Given the description of an element on the screen output the (x, y) to click on. 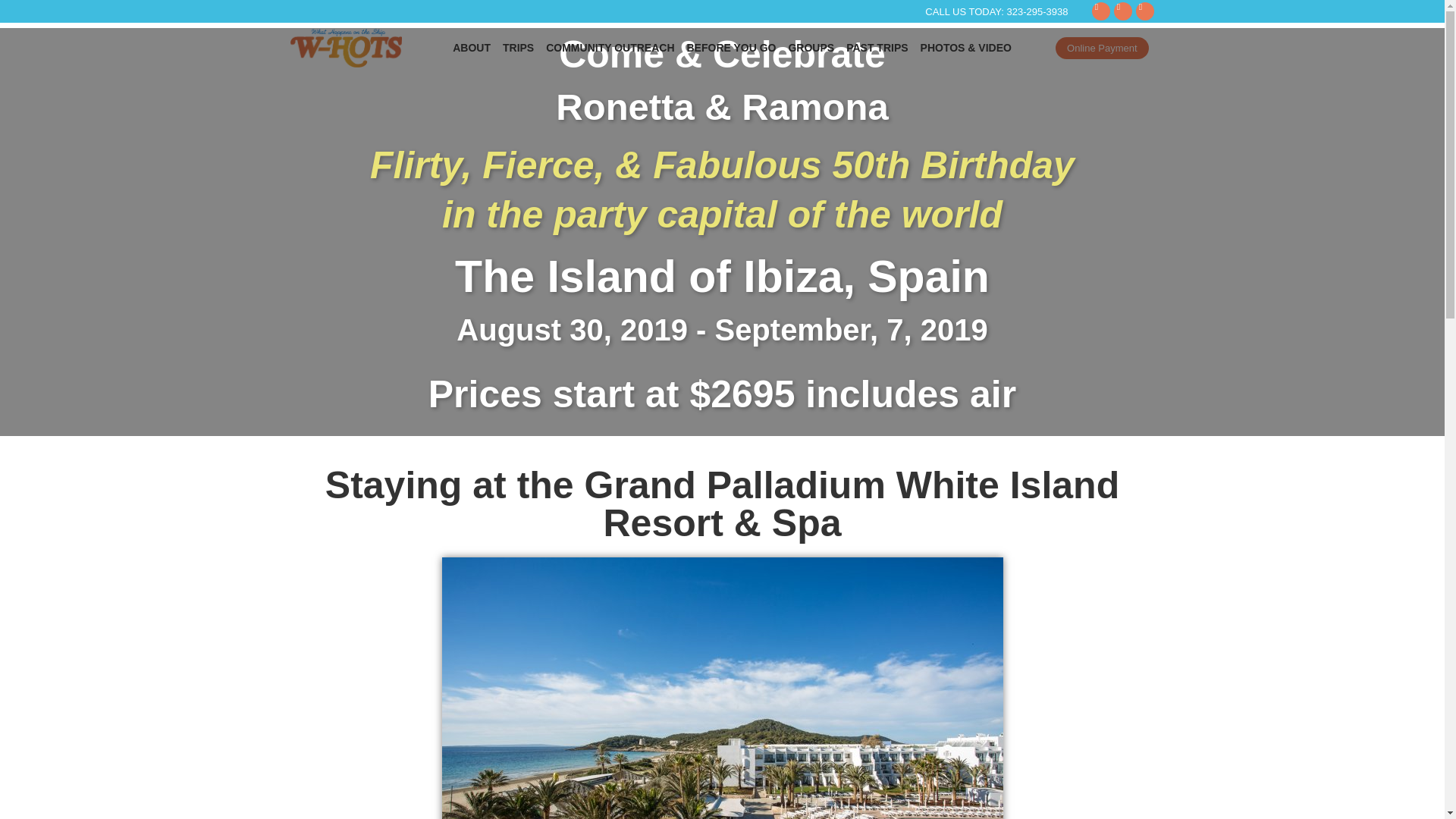
BEFORE YOU GO (732, 47)
PAST TRIPS (877, 47)
COMMUNITY OUTREACH (609, 47)
TRIPS (518, 47)
Online Payment (1101, 47)
GROUPS (810, 47)
ABOUT (471, 47)
